Given the description of an element on the screen output the (x, y) to click on. 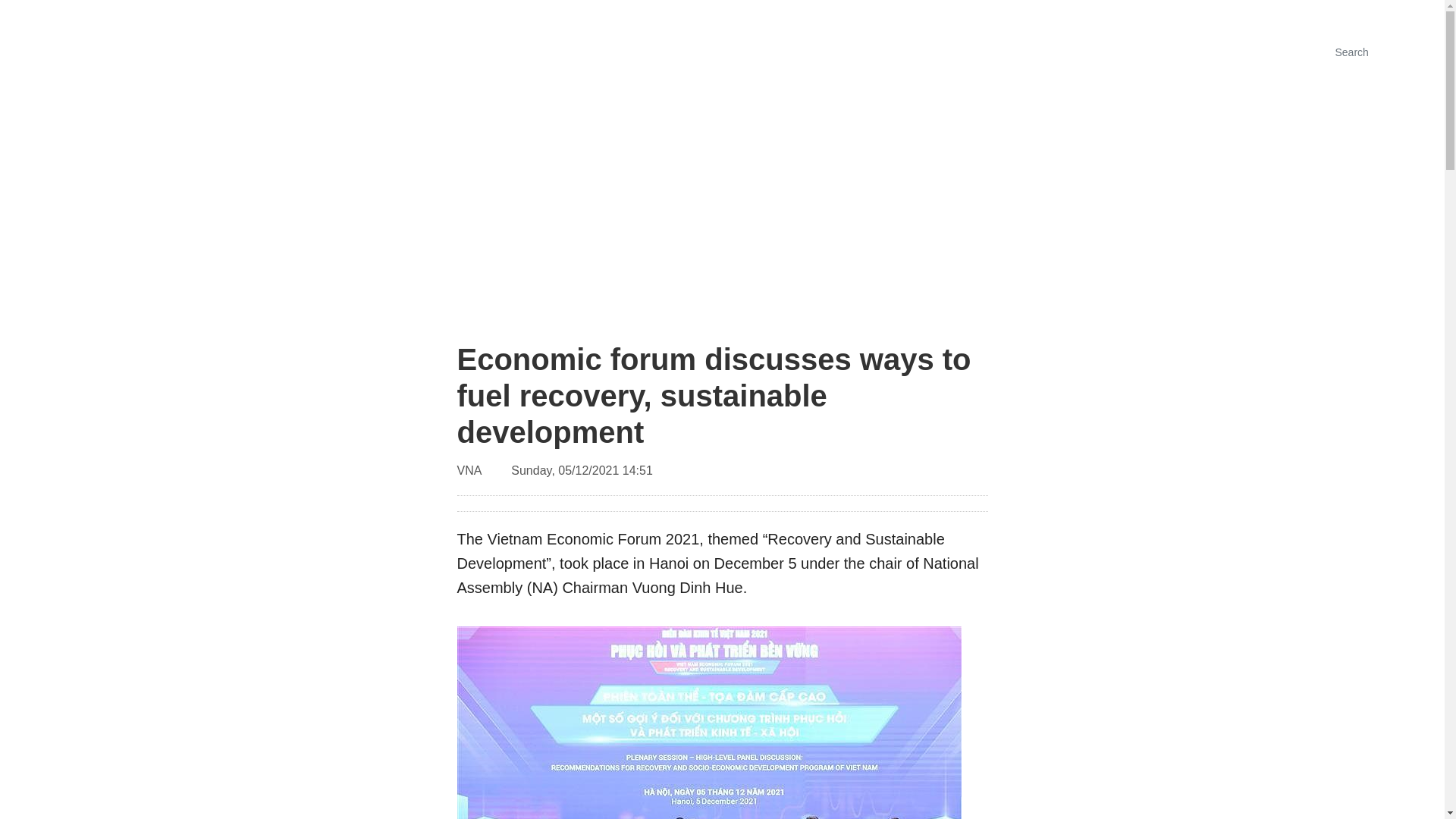
NEWS (739, 206)
VIDEO (1296, 52)
INFOGRAPHIC (1210, 52)
NEWS (1059, 52)
English (1219, 14)
PHOTO (1123, 52)
